Given the description of an element on the screen output the (x, y) to click on. 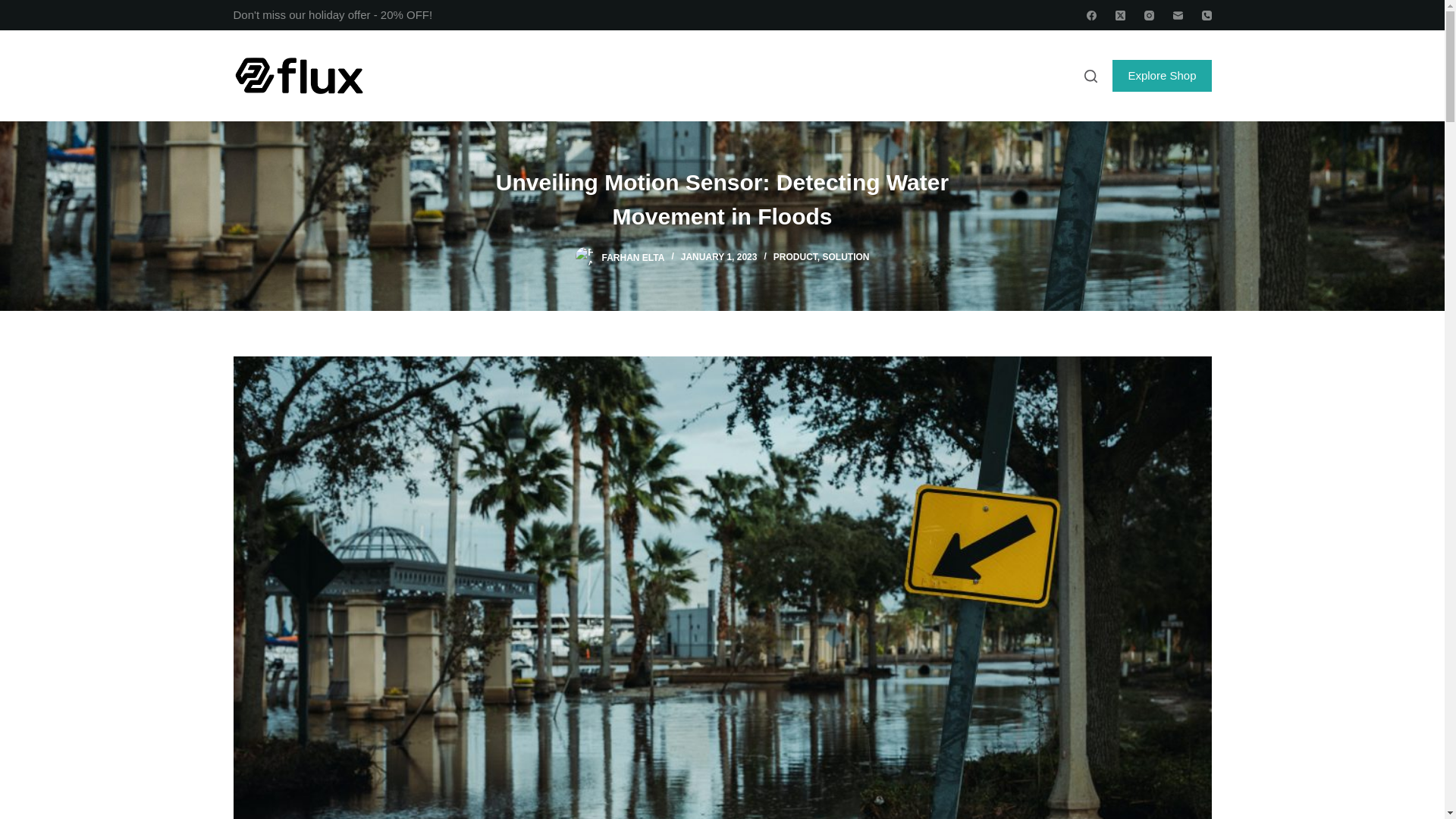
Skip to content (15, 7)
SOLUTION (845, 256)
Explore Shop (1161, 75)
holiday offer (338, 14)
PRODUCT (794, 256)
Unveiling Motion Sensor: Detecting Water Movement in Floods (722, 199)
Posts by Farhan Elta (633, 256)
FARHAN ELTA (633, 256)
